Given the description of an element on the screen output the (x, y) to click on. 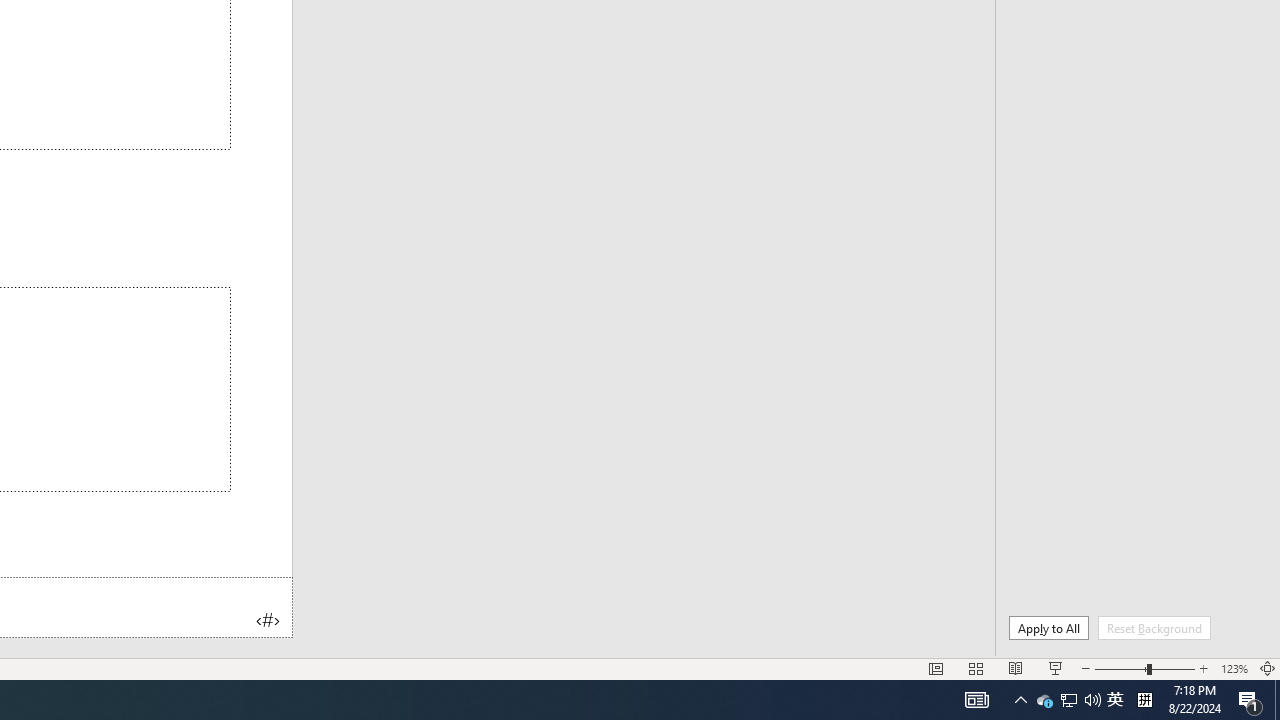
Zoom 123% (1234, 668)
Apply to All (1048, 628)
Reset Background (1154, 628)
